Given the description of an element on the screen output the (x, y) to click on. 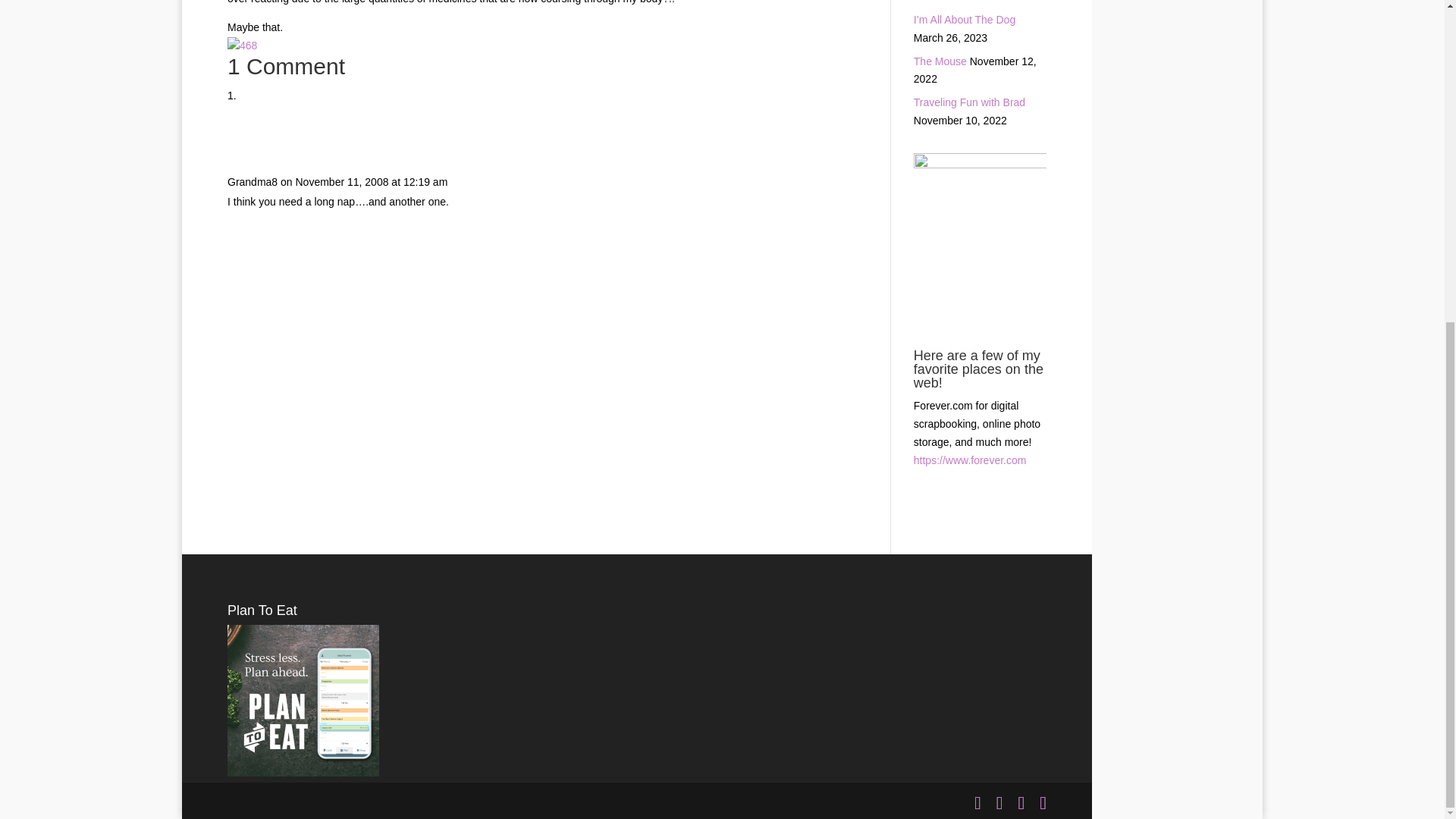
Simple Meal Planning - Plan to Eat (302, 772)
